Given the description of an element on the screen output the (x, y) to click on. 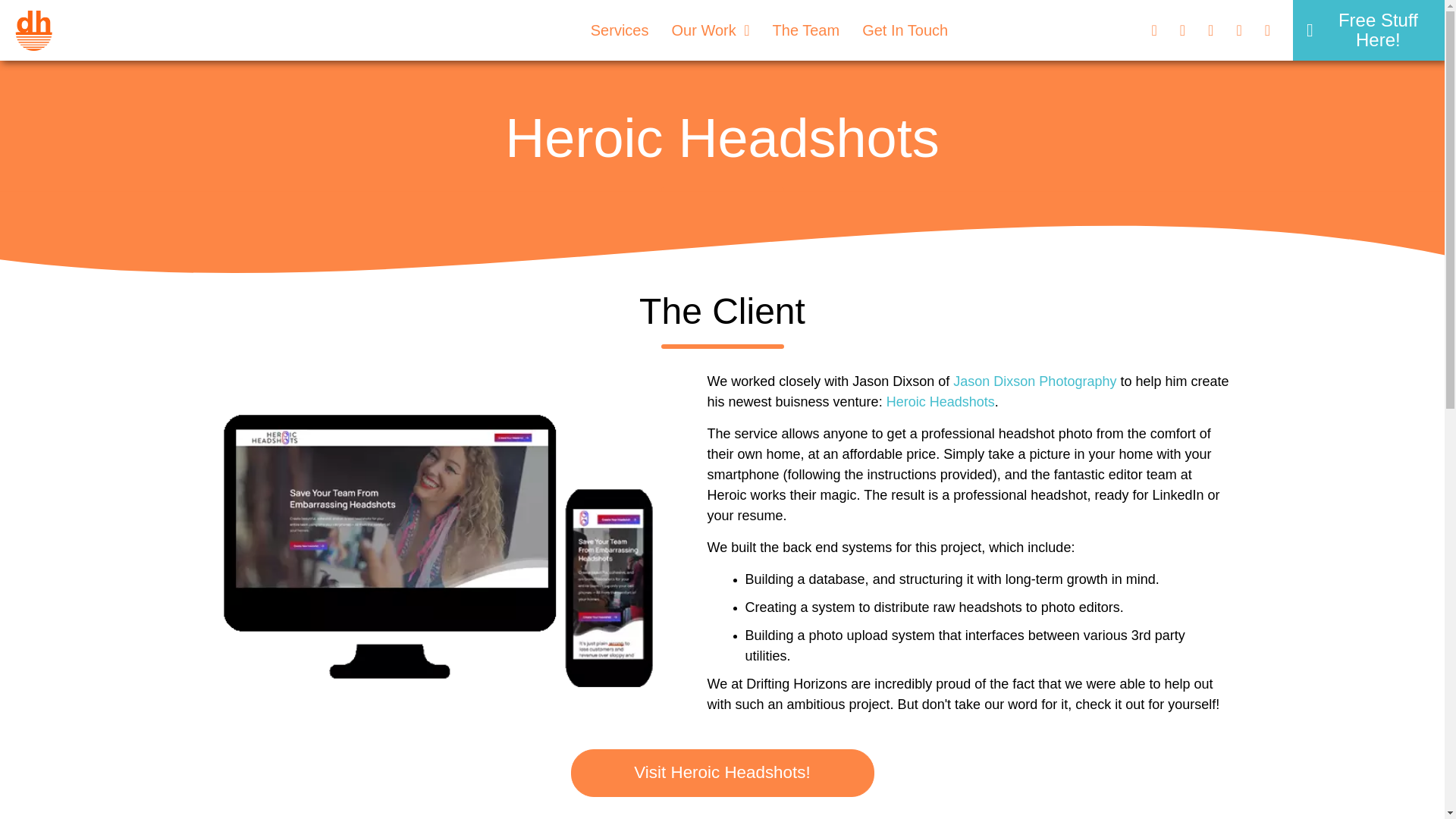
Visit Heroic Headshots! (721, 772)
Our Work (709, 30)
Heroic Headshots (940, 401)
Jason Dixson Photography (1034, 381)
Get In Touch (904, 30)
Services (620, 30)
The Team (806, 30)
